Given the description of an element on the screen output the (x, y) to click on. 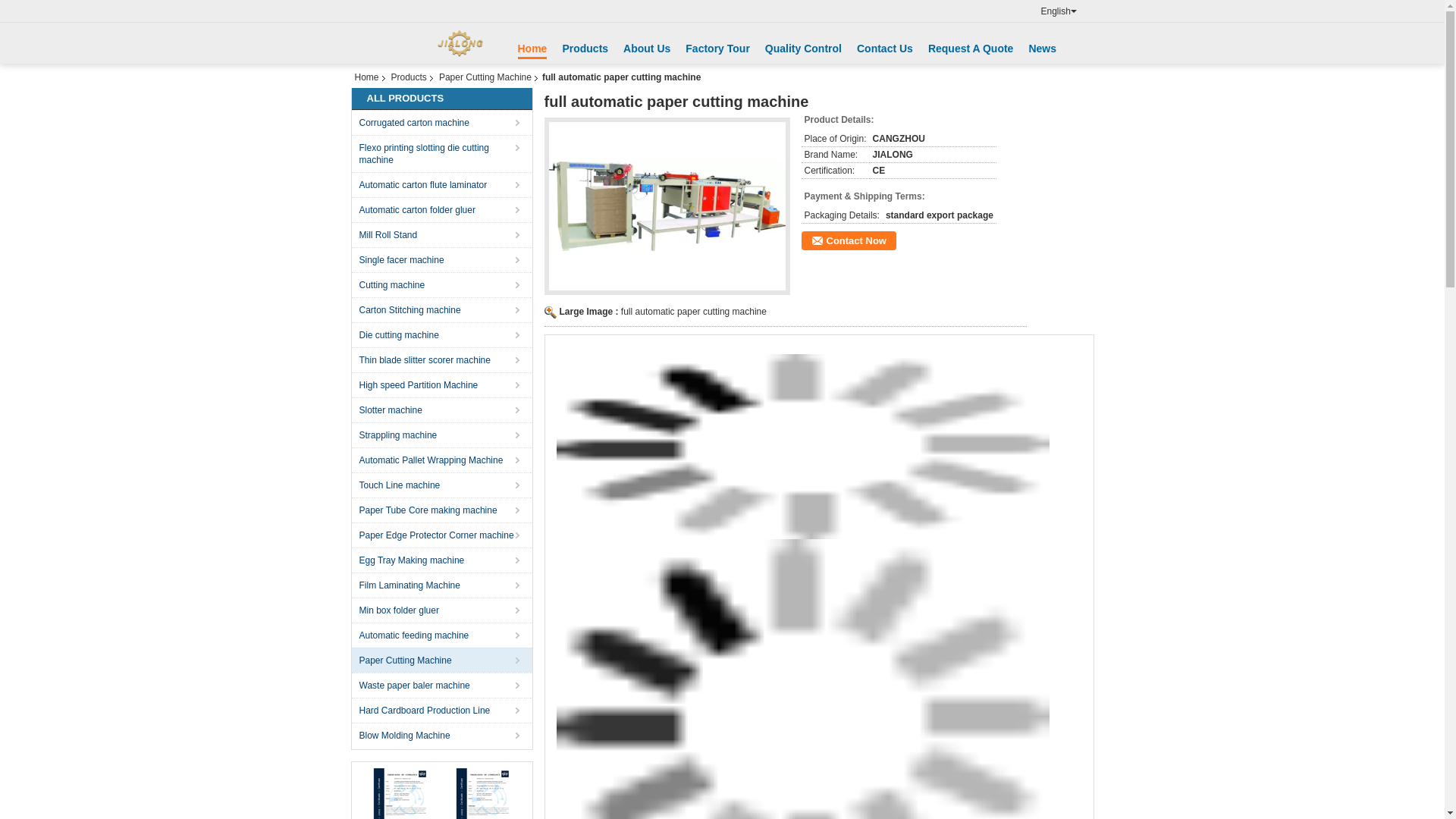
Quality Control (803, 48)
China Carton Stitching machine  on sales (443, 309)
High speed Partition Machine (443, 384)
Paper Edge Protector Corner machine (443, 534)
Strappling machine (443, 434)
News (1042, 48)
Single facer machine (443, 259)
Paper Tube Core making machine (443, 509)
Contact Us (884, 48)
Products (585, 48)
About Us (646, 48)
Factory Tour (717, 48)
Thin blade slitter scorer machine (443, 359)
Paper Cutting Machine (443, 659)
Touch Line machine (443, 484)
